Given the description of an element on the screen output the (x, y) to click on. 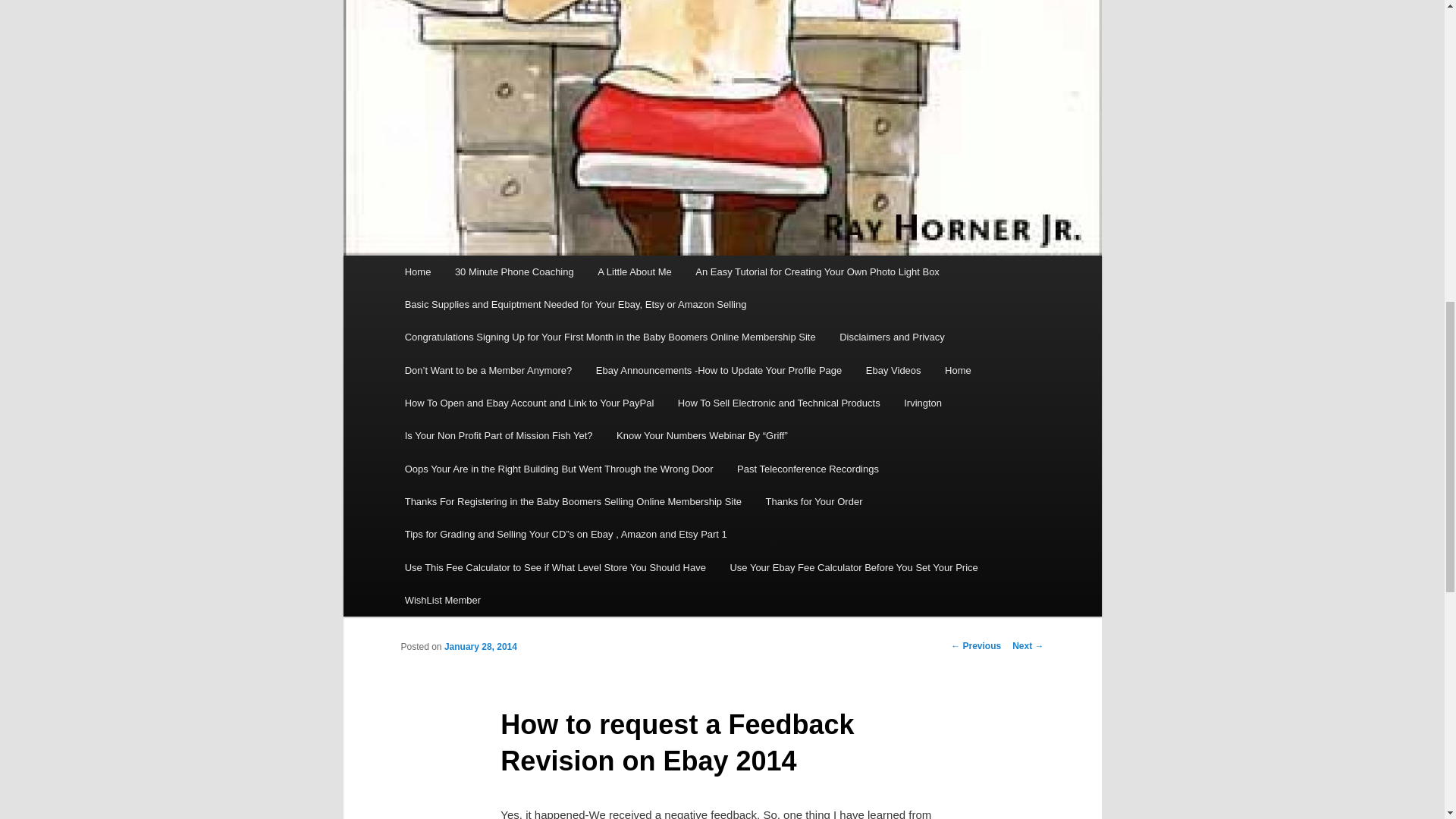
A Little About Me (633, 271)
January 28, 2014 (480, 646)
An Easy Tutorial for Creating Your Own Photo Light Box (818, 271)
30 Minute Phone Coaching (513, 271)
WishList Member (443, 599)
Disclaimers and Privacy (891, 336)
How To Sell Electronic and Technical Products (778, 402)
Home (417, 271)
Use Your Ebay Fee Calculator Before You Set Your Price (853, 567)
10:13 pm (480, 646)
Thanks for Your Order (814, 501)
Is Your Non Profit Part of Mission Fish Yet? (498, 435)
